Given the description of an element on the screen output the (x, y) to click on. 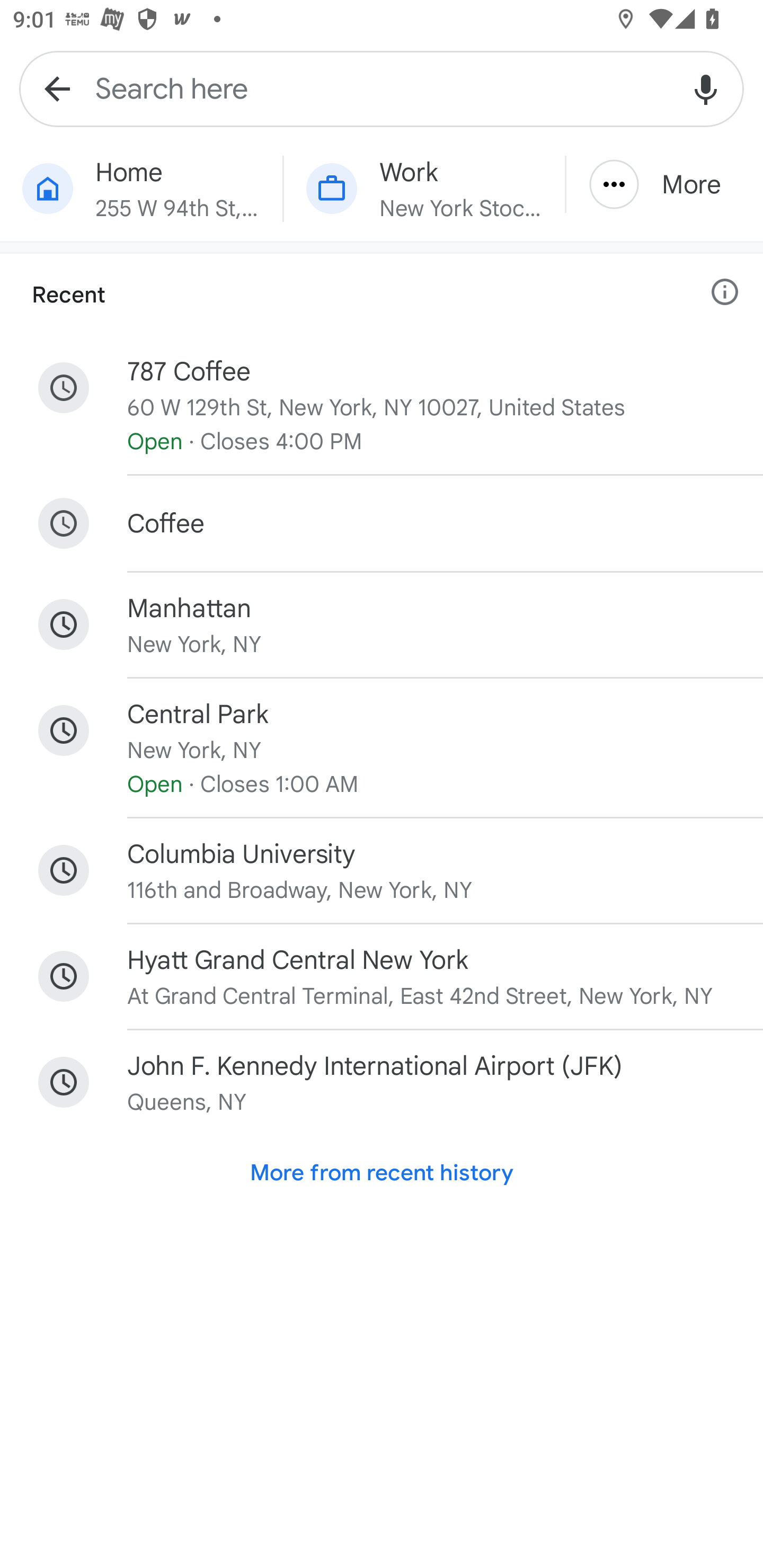
Navigate up (57, 88)
Search here (381, 88)
Voice search (705, 88)
More (664, 184)
Coffee (381, 522)
Manhattan New York, NY (381, 624)
Central Park New York, NY Open · Closes 1:00 AM (381, 747)
More from recent history (381, 1172)
